Given the description of an element on the screen output the (x, y) to click on. 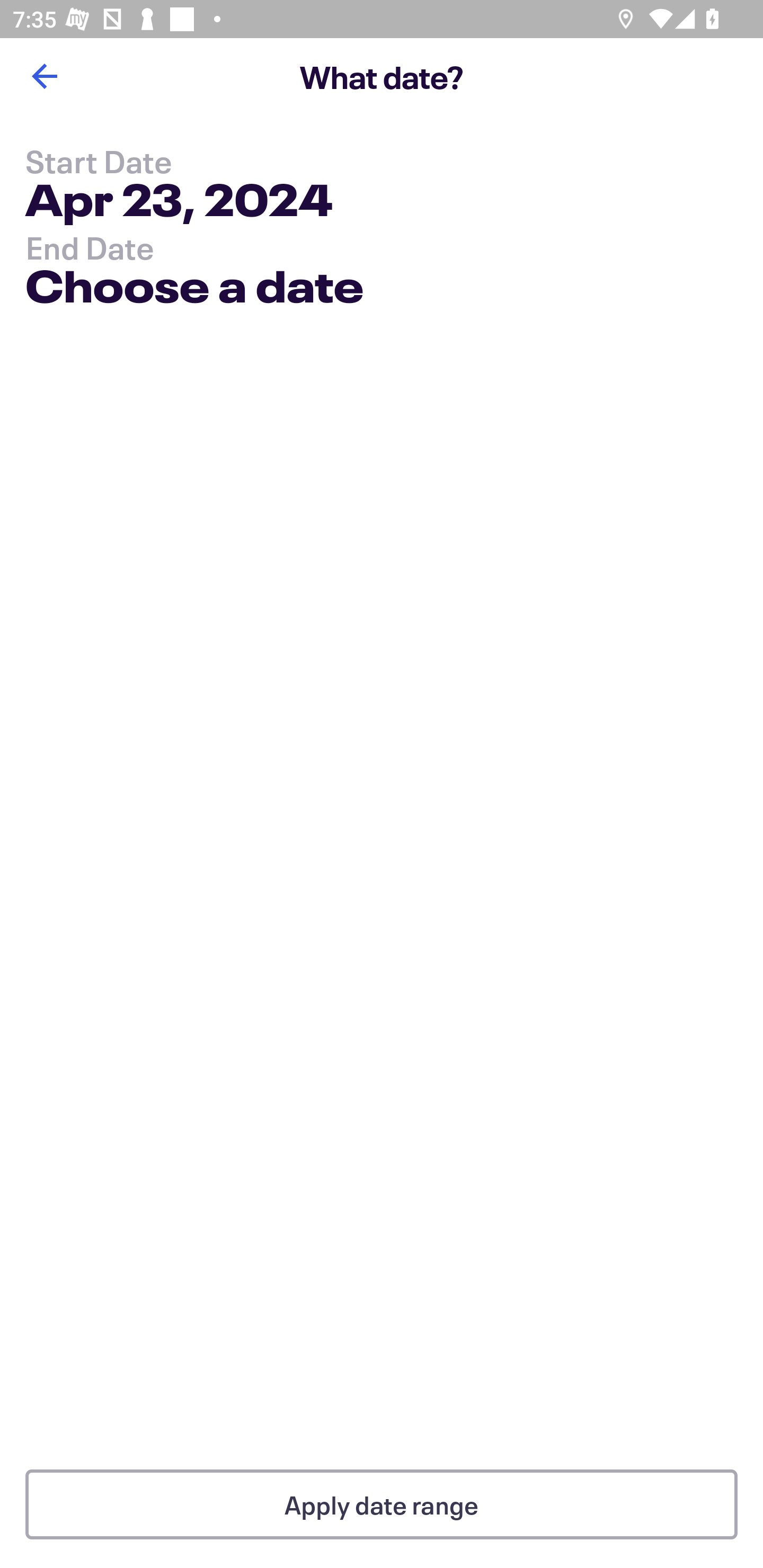
Back button (44, 75)
Apr 23, 2024 (178, 203)
Choose a date (194, 289)
Apply date range (381, 1504)
